Given the description of an element on the screen output the (x, y) to click on. 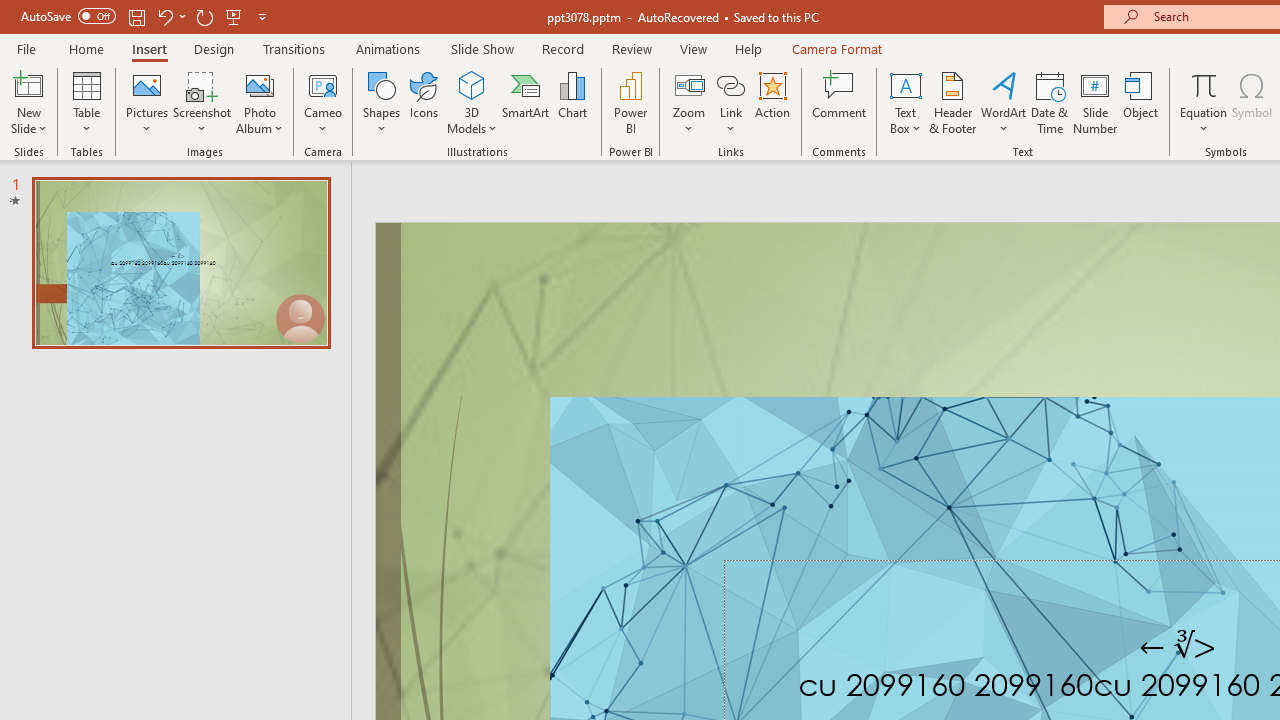
Icons (424, 102)
New Photo Album... (259, 84)
Camera Format (836, 48)
Link (731, 102)
Screenshot (202, 102)
Action (772, 102)
